Given the description of an element on the screen output the (x, y) to click on. 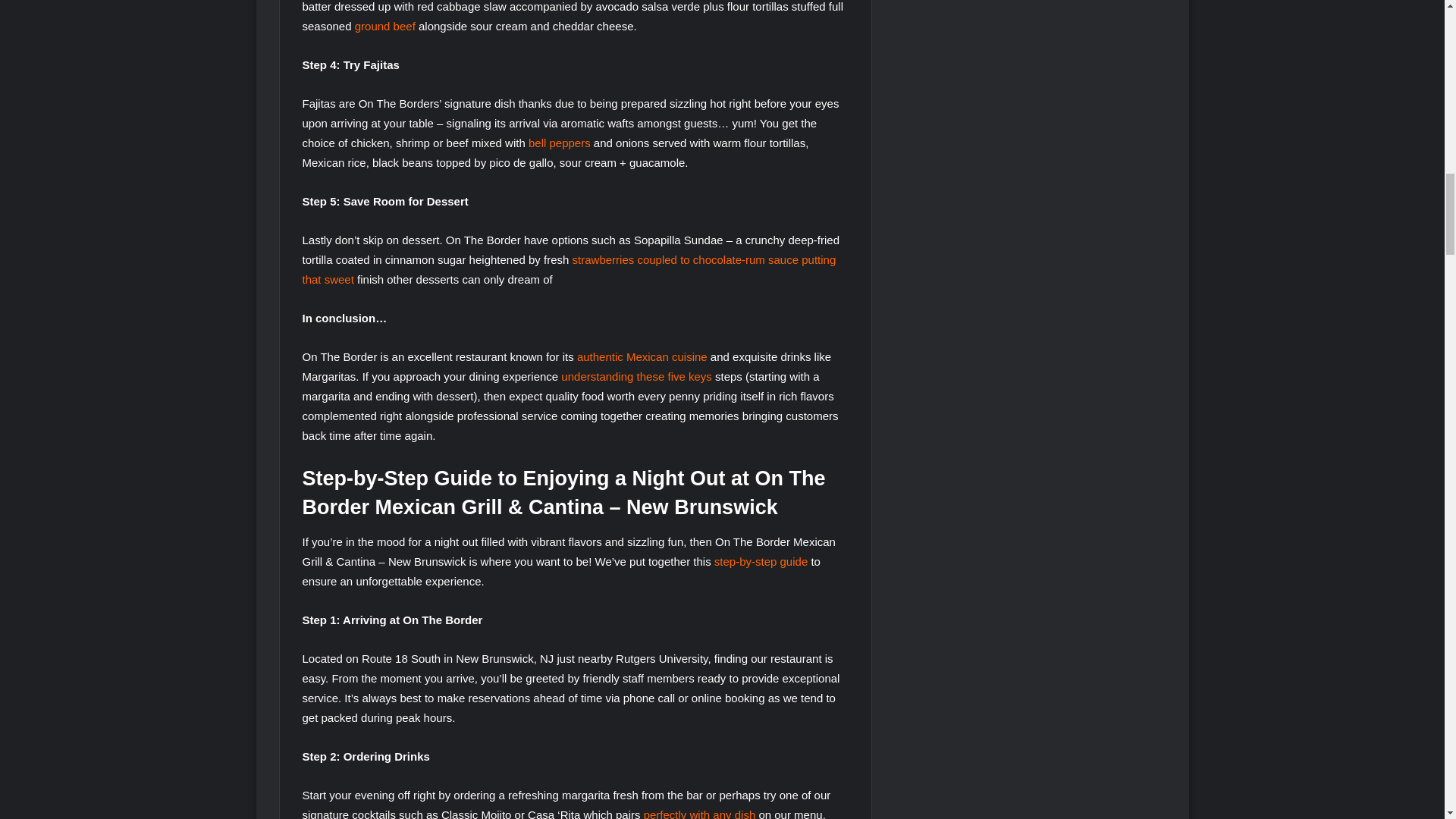
perfectly with any dish (699, 813)
understanding these five keys (635, 376)
authentic Mexican cuisine (641, 356)
ground beef (384, 25)
bell peppers (559, 142)
step-by-step guide (761, 561)
